Given the description of an element on the screen output the (x, y) to click on. 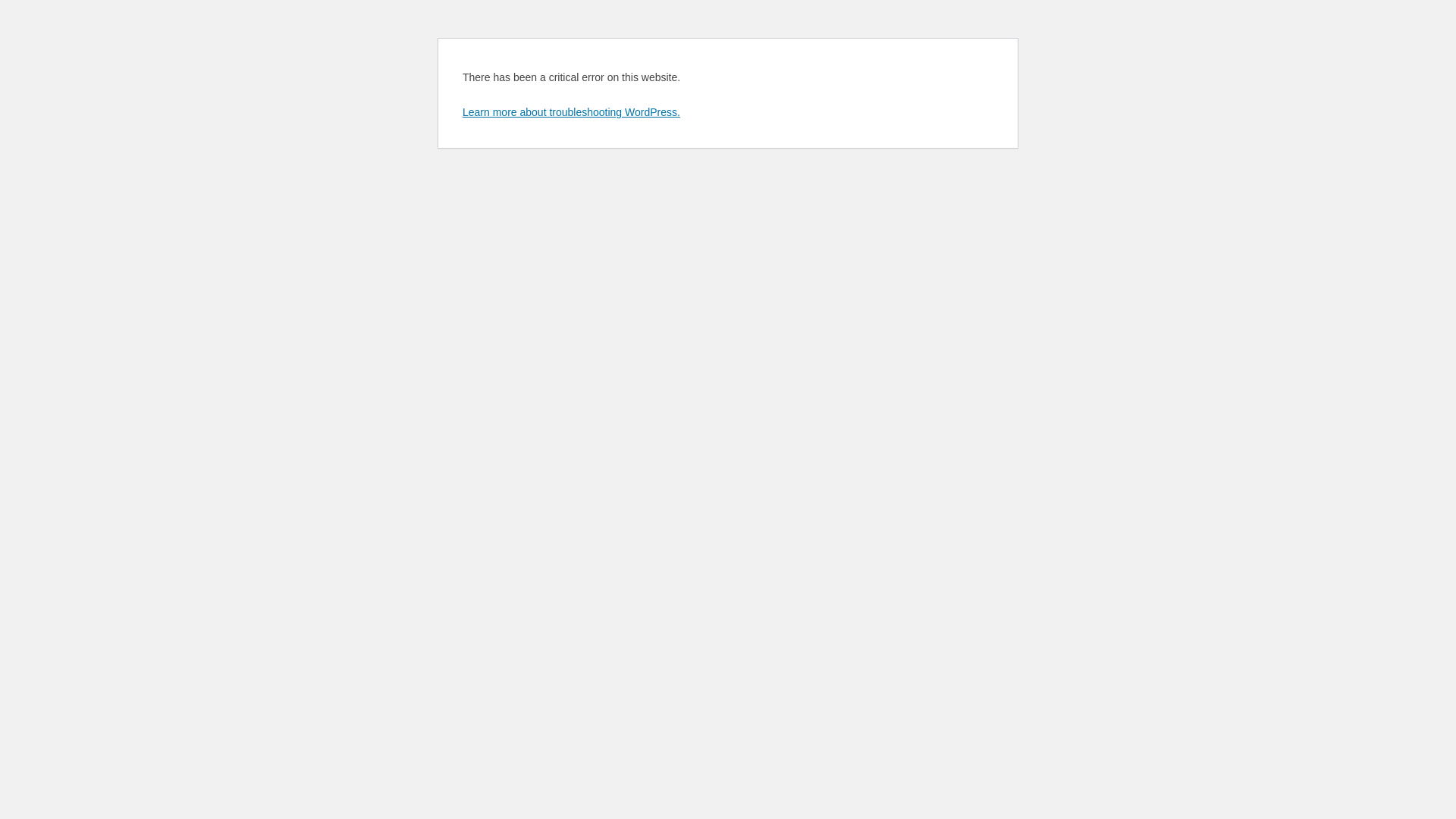
Learn more about troubleshooting WordPress. Element type: text (571, 112)
